Given the description of an element on the screen output the (x, y) to click on. 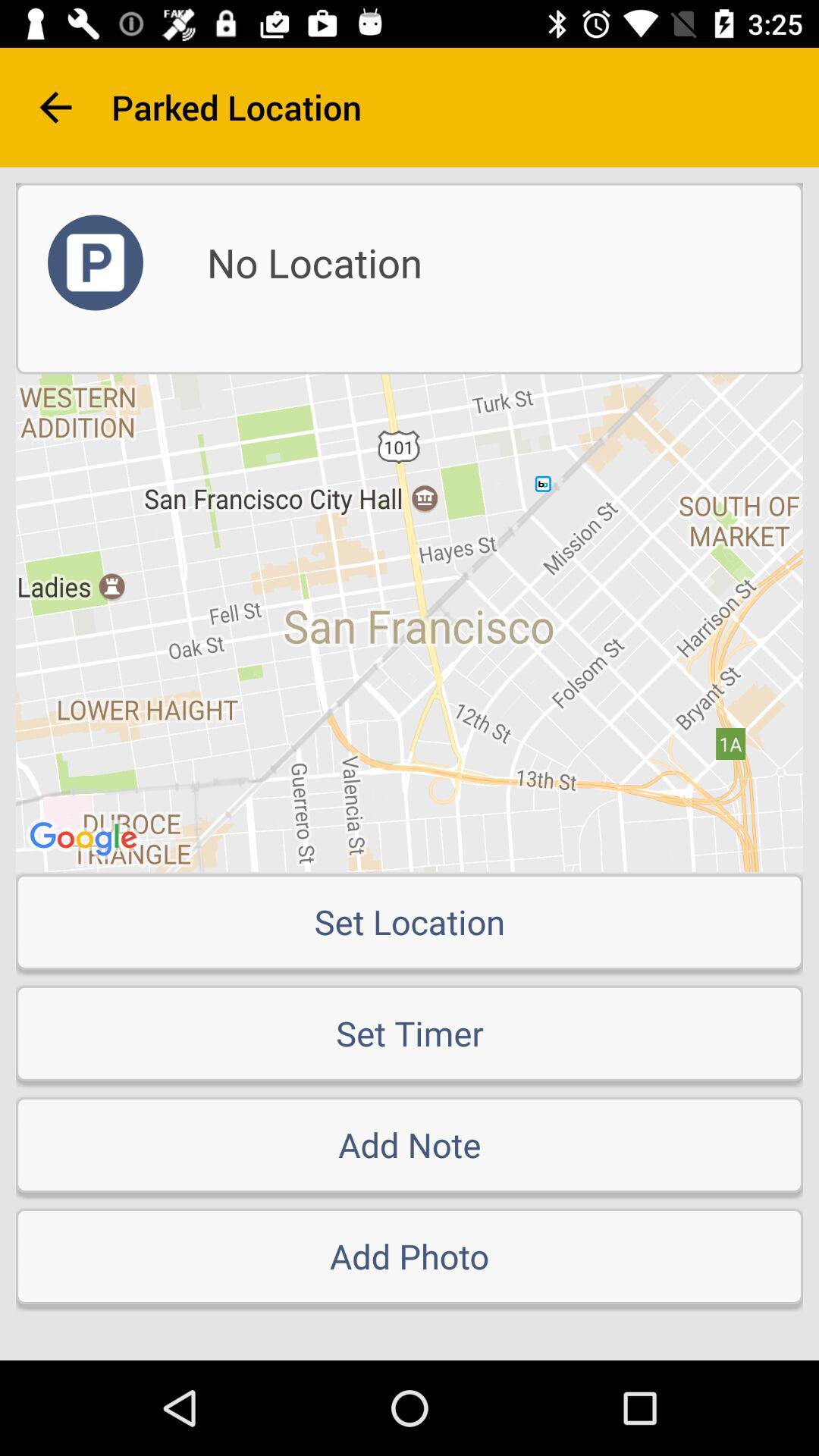
click the item below the set timer icon (409, 1144)
